Given the description of an element on the screen output the (x, y) to click on. 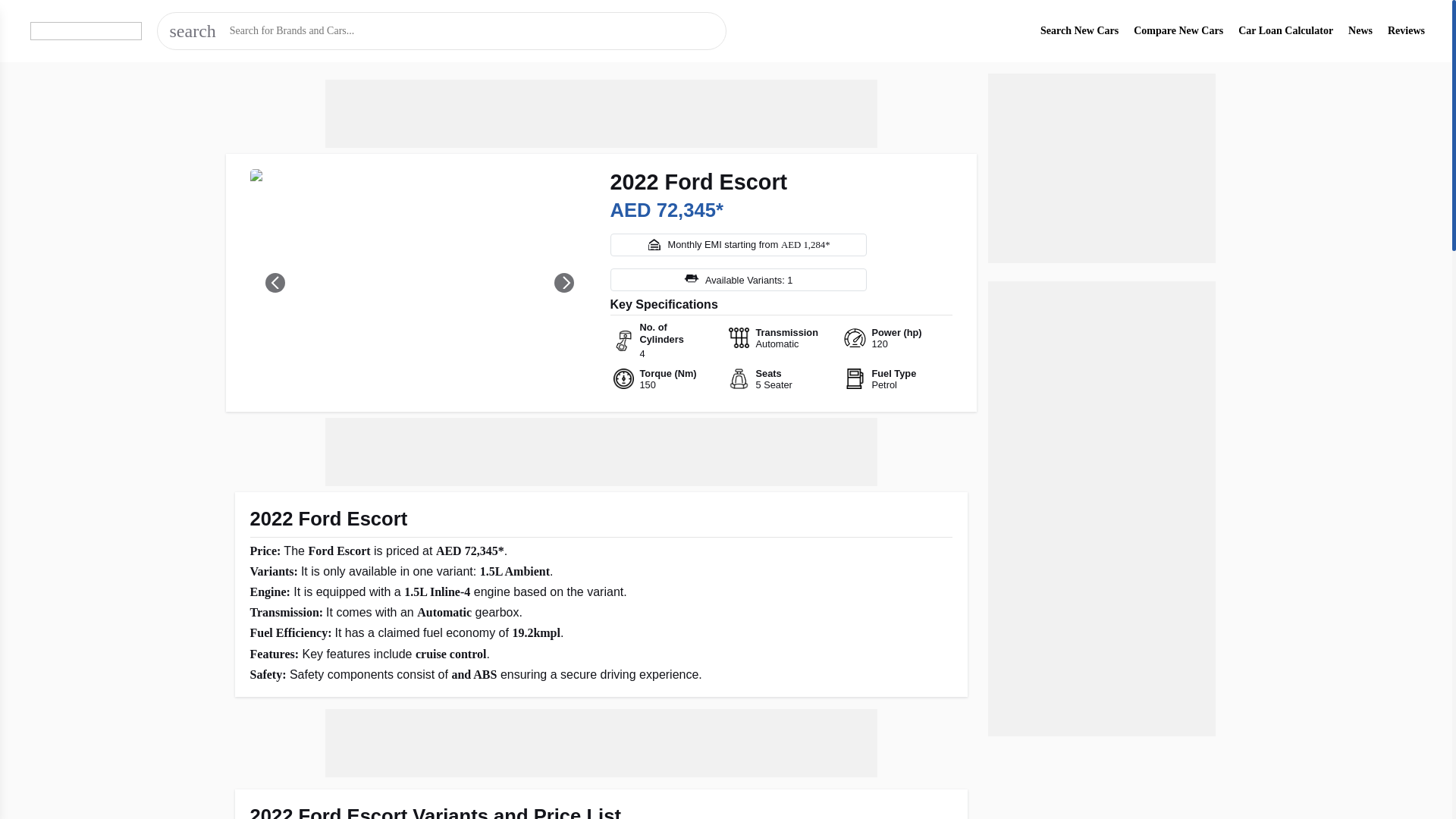
News (1360, 30)
Car Loan Calculator (1286, 30)
Reviews (1406, 30)
Compare New Cars (1178, 30)
Search New Cars (1079, 30)
